Given the description of an element on the screen output the (x, y) to click on. 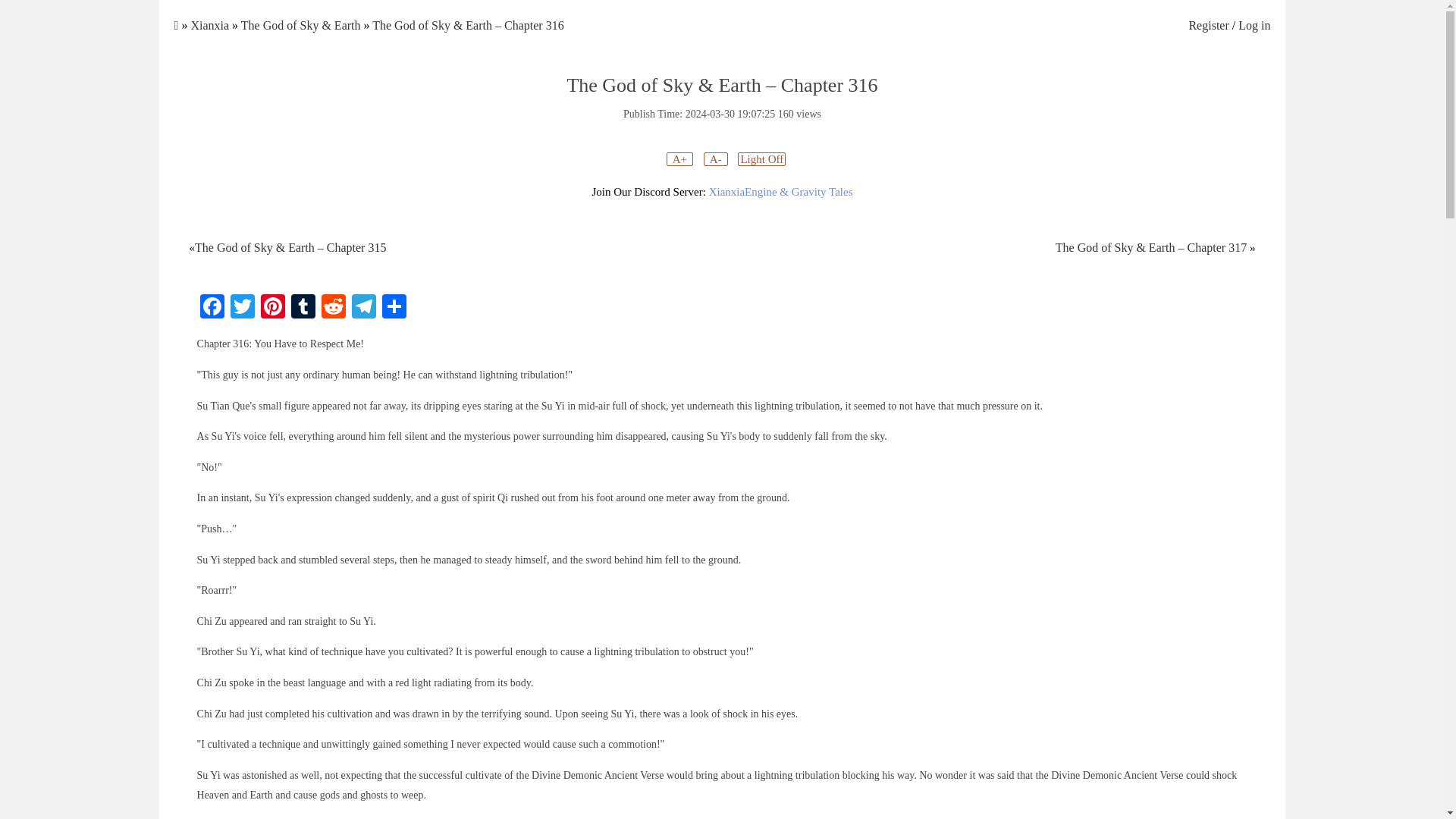
Twitter (242, 308)
Reddit (333, 308)
Register (1208, 24)
Reddit (333, 308)
Tumblr (303, 308)
Pinterest (272, 308)
Telegram (363, 308)
Tumblr (303, 308)
Log in (1254, 24)
Facebook (211, 308)
